Given the description of an element on the screen output the (x, y) to click on. 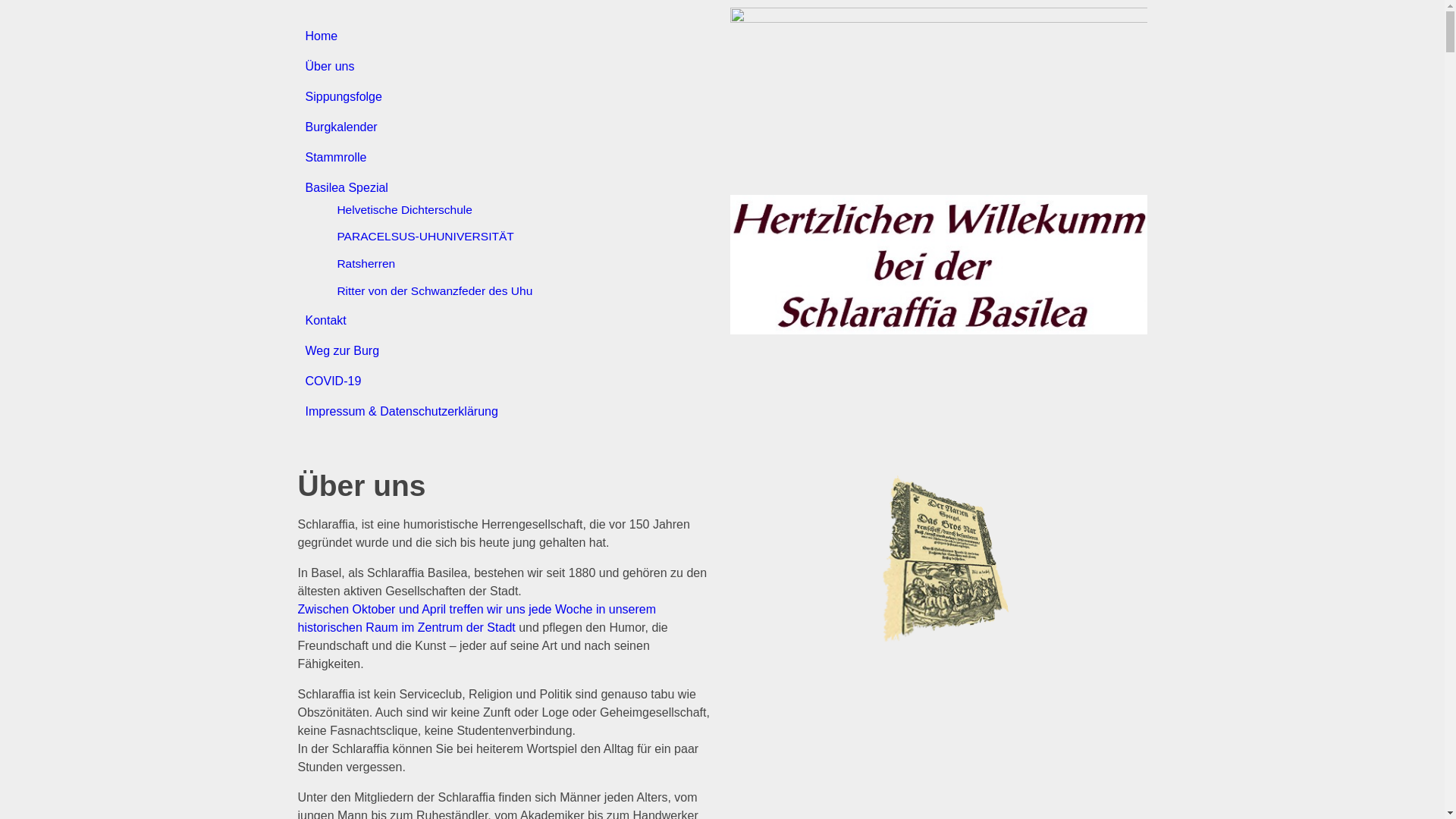
Weg zur Burg Element type: text (341, 350)
COVID-19 Element type: text (332, 380)
Basilea Spezial Element type: text (345, 187)
in unserem historischen Raum im Zentrum der Stadt Element type: text (476, 617)
Helvetische Dichterschule Element type: text (404, 209)
Ritter von der Schwanzfeder des Uhu Element type: text (434, 290)
Stammrolle Element type: text (335, 156)
Zwischen Oktober und April treffen wir uns jede Woche Element type: text (444, 608)
Sippungsfolge Element type: text (342, 96)
Ratsherren Element type: text (365, 263)
Home Element type: text (320, 35)
Burgkalender Element type: text (340, 126)
Kontakt Element type: text (324, 319)
